Given the description of an element on the screen output the (x, y) to click on. 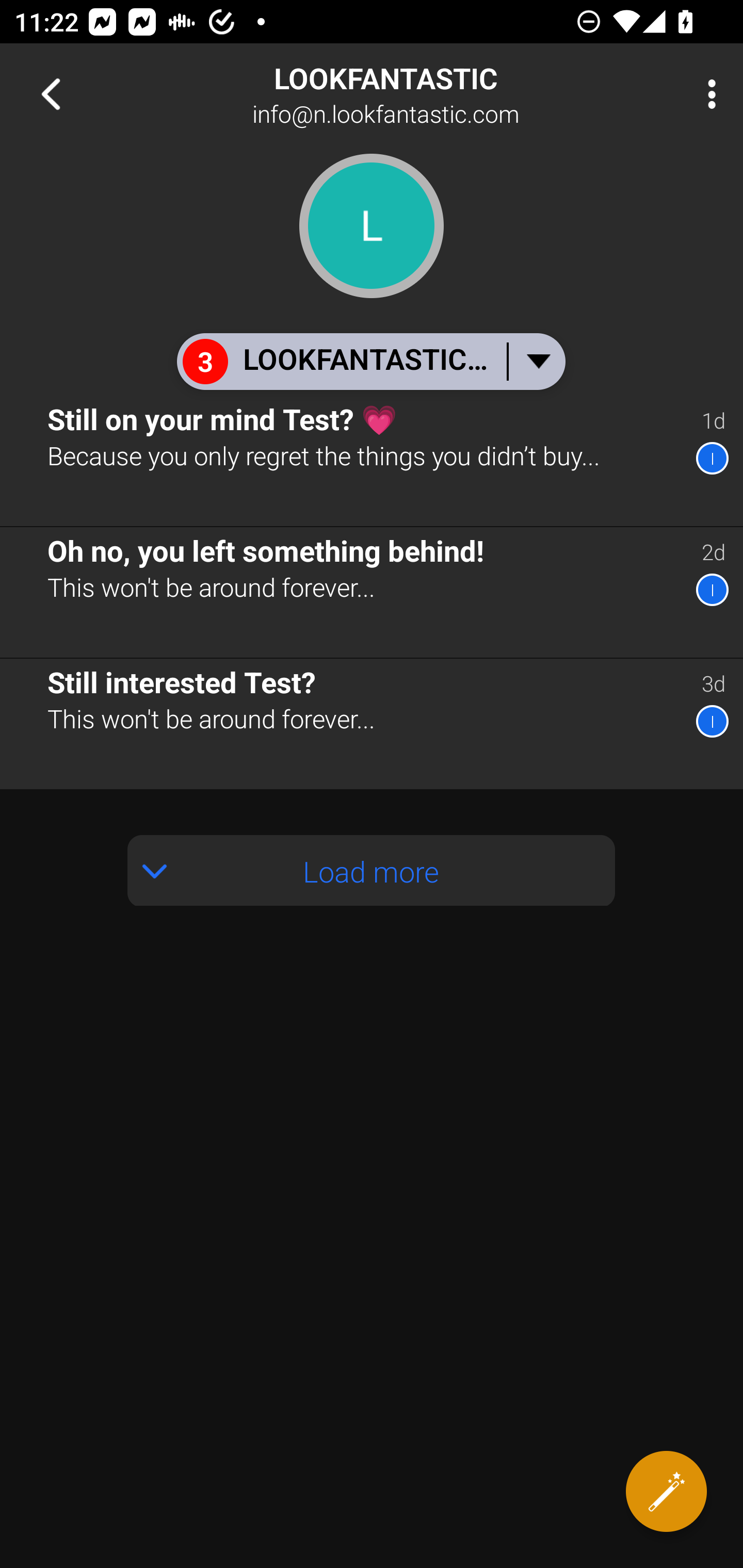
Navigate up (50, 93)
LOOKFANTASTIC info@n.lookfantastic.com (436, 93)
More Options (706, 93)
3 LOOKFANTASTIC & You (370, 361)
Load more (371, 848)
Load more (371, 870)
